Given the description of an element on the screen output the (x, y) to click on. 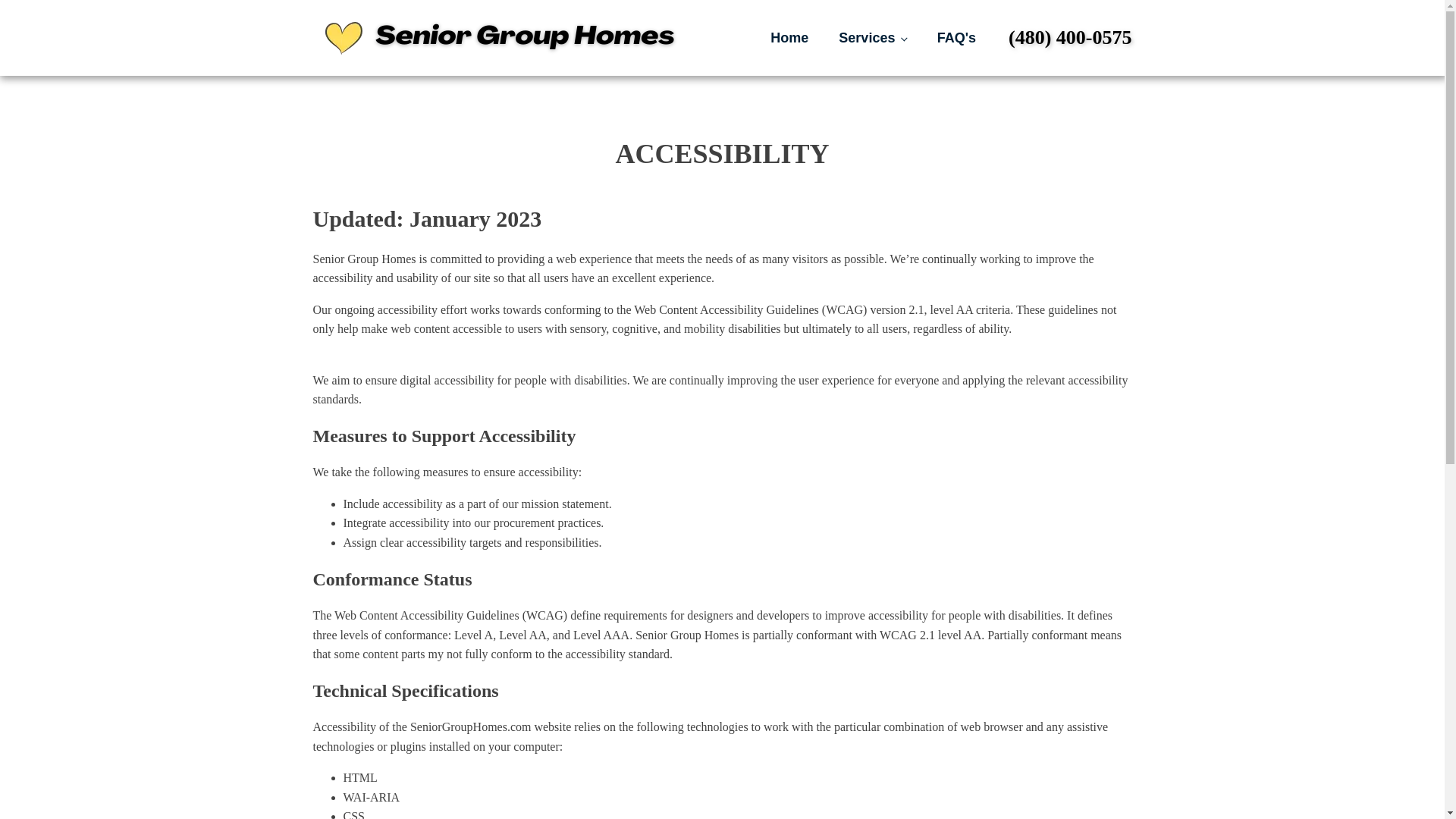
Services (872, 37)
FAQ's (956, 37)
Home (789, 37)
